Given the description of an element on the screen output the (x, y) to click on. 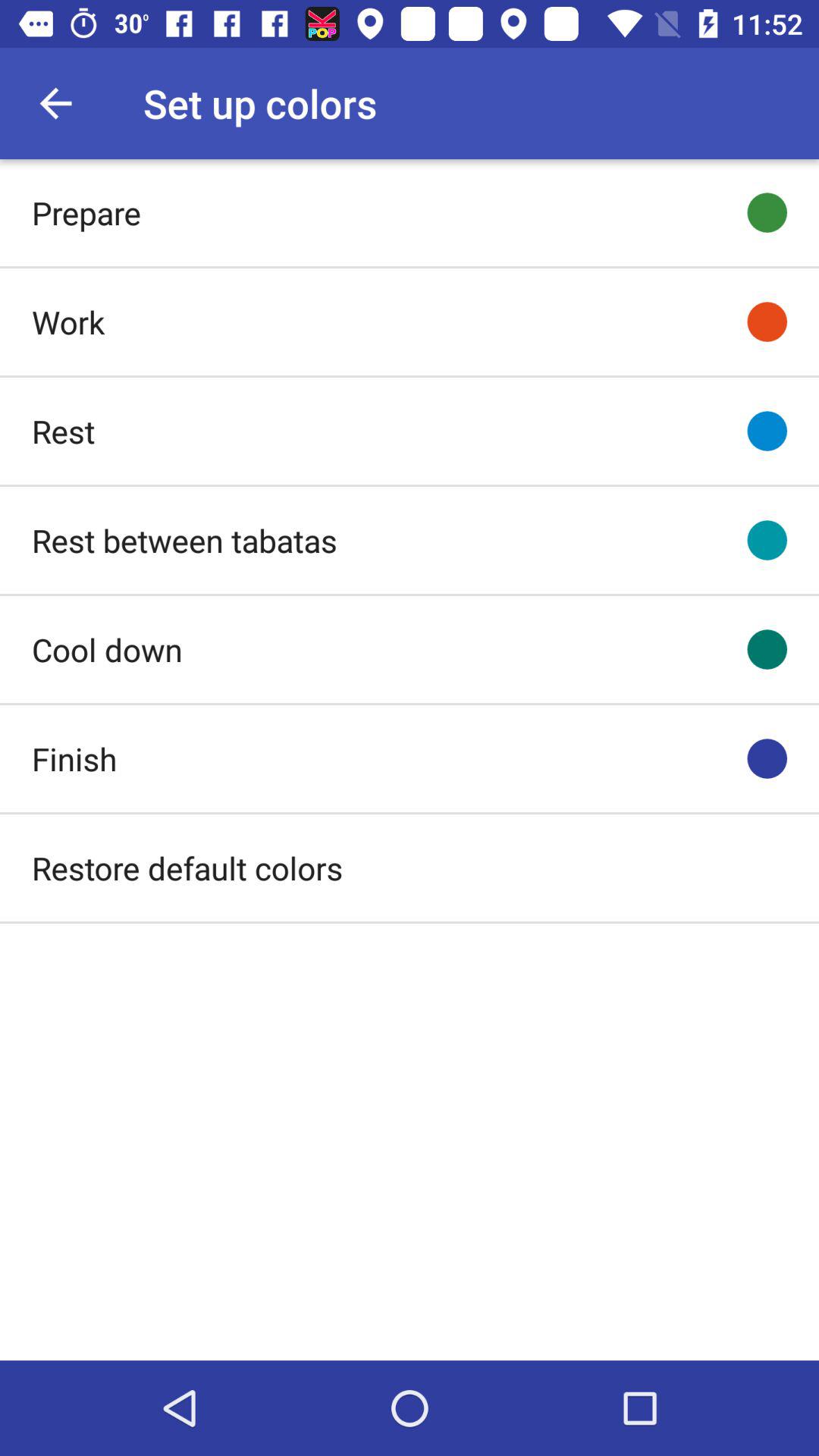
launch the cool down (106, 649)
